Given the description of an element on the screen output the (x, y) to click on. 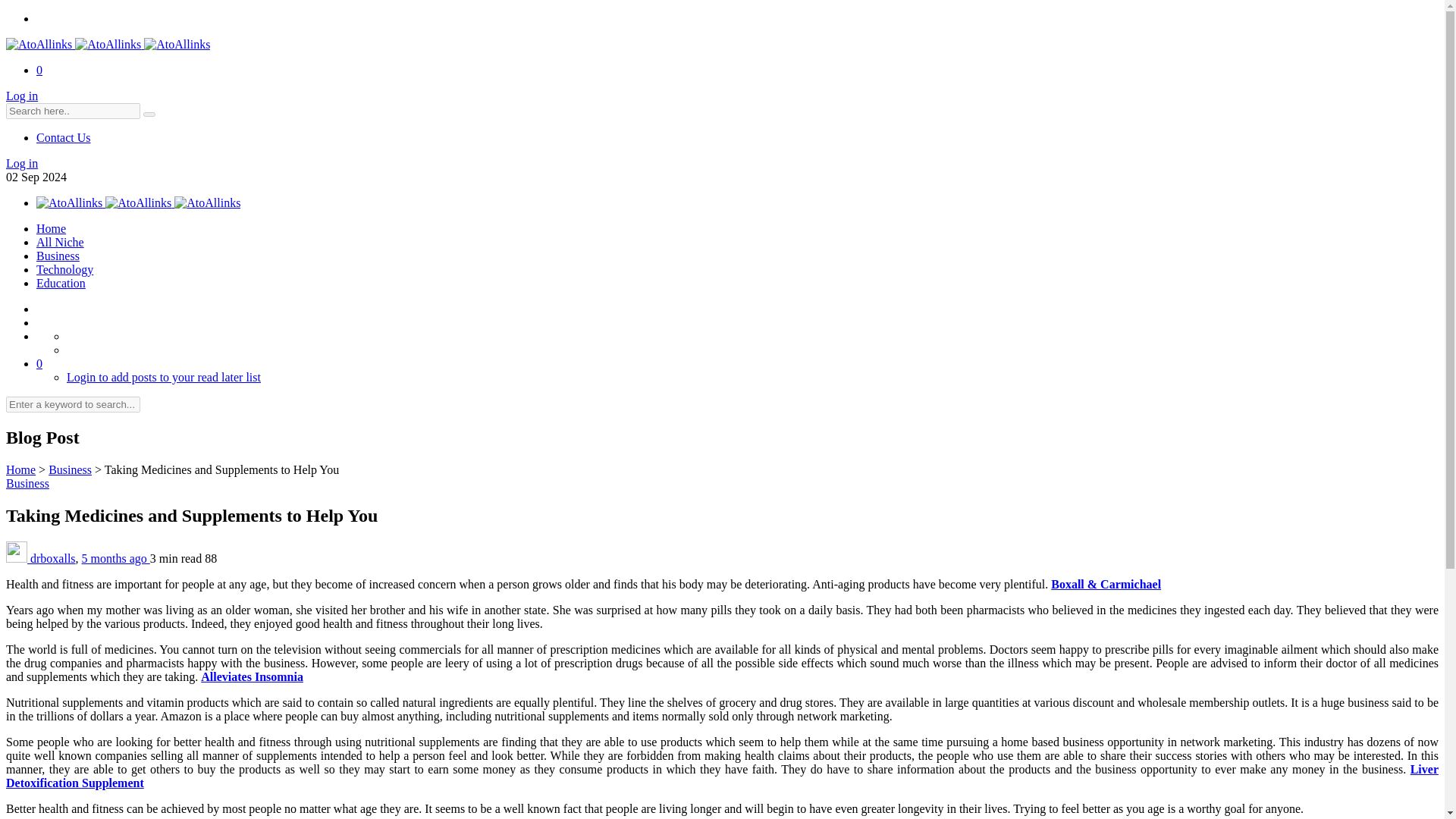
Log in (21, 163)
5 months ago (115, 558)
Business (69, 469)
Home (50, 228)
Business (58, 255)
Home (19, 469)
Contact Us (63, 137)
Education (60, 282)
Login to add posts to your read later list (163, 377)
drboxalls (52, 558)
